Given the description of an element on the screen output the (x, y) to click on. 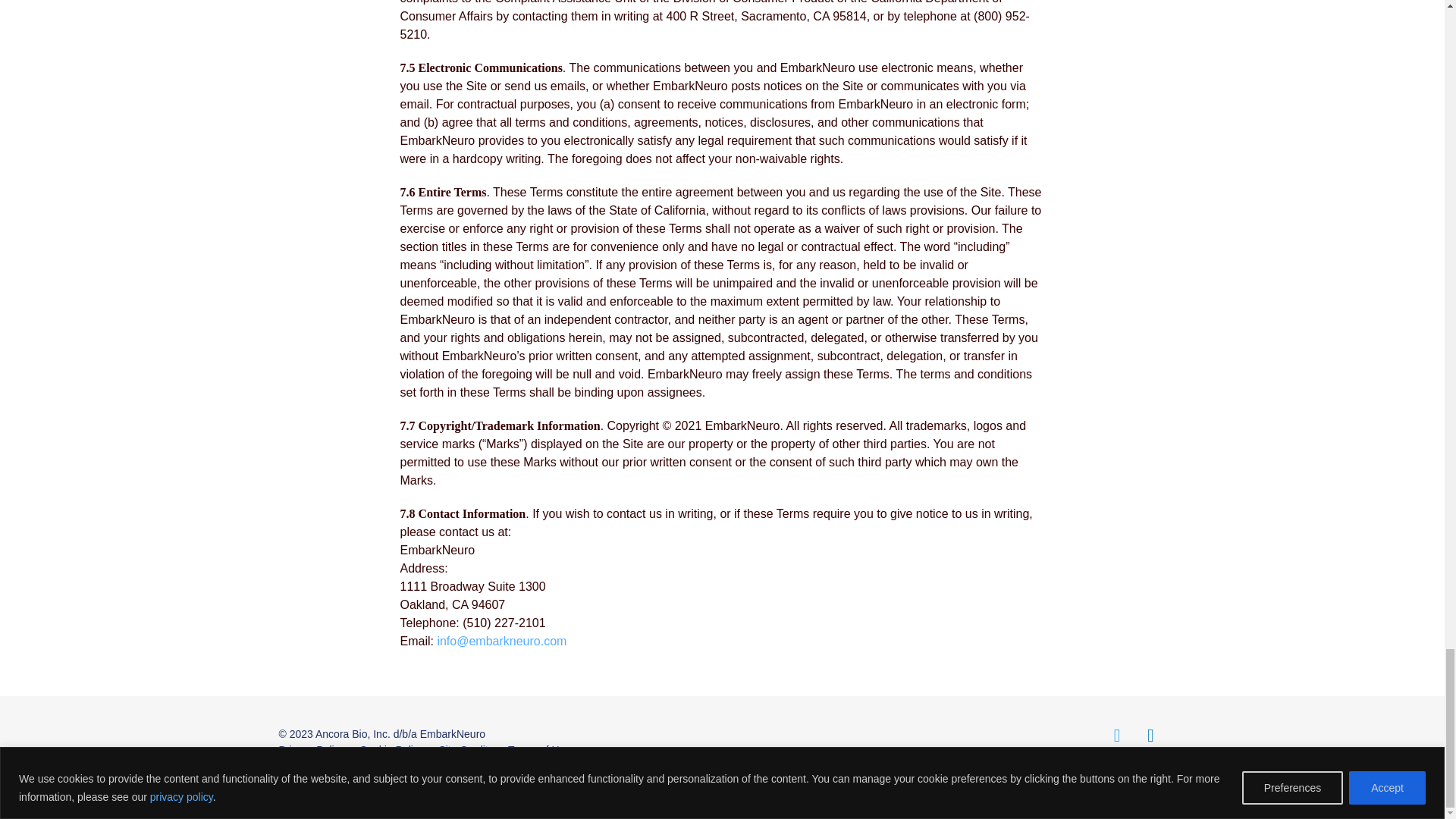
Privacy Policy (312, 749)
Terms of Use (539, 749)
twitter (1117, 734)
Cookie Policy (391, 749)
Twitter (1117, 734)
Site Credits (465, 749)
Default Label (1150, 734)
linkedin (1150, 734)
